Given the description of an element on the screen output the (x, y) to click on. 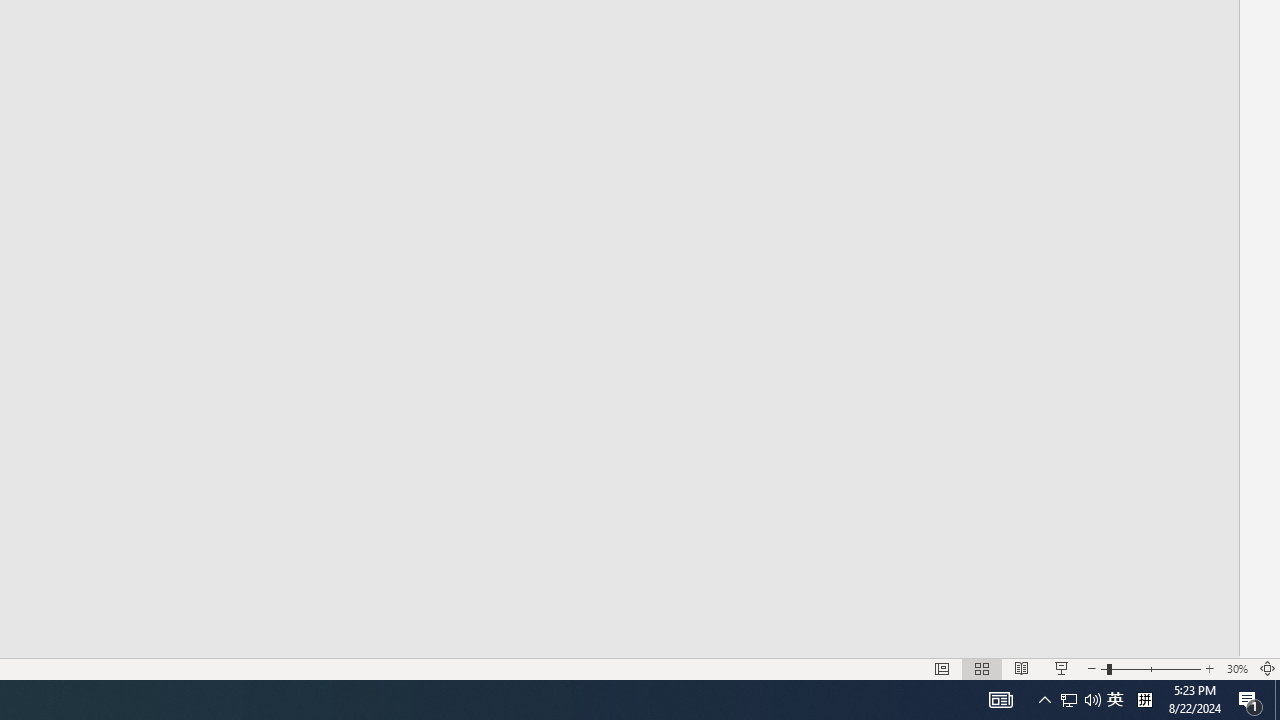
Zoom 30% (1236, 668)
